Given the description of an element on the screen output the (x, y) to click on. 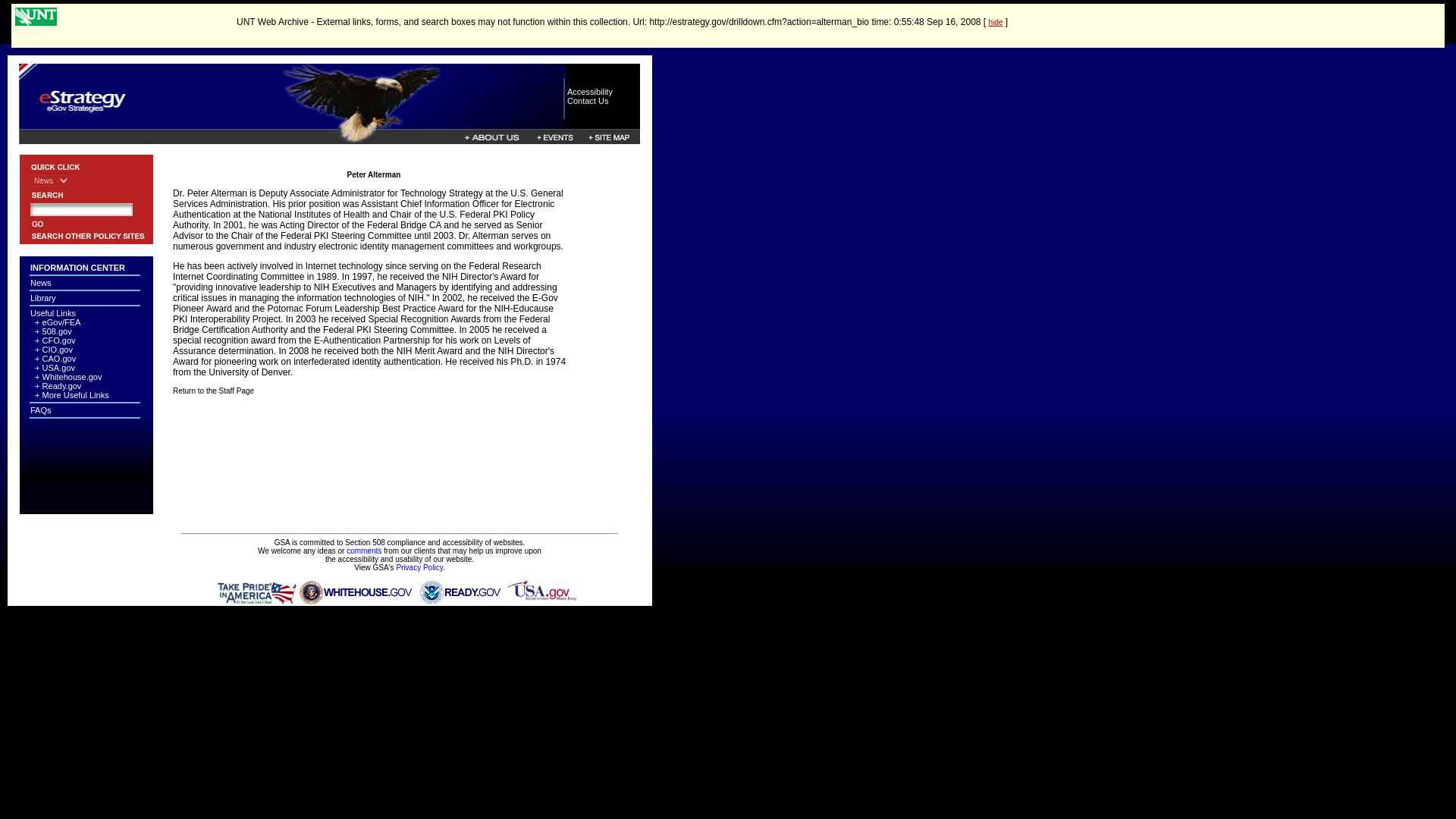
Questions and Comments (363, 551)
link to USA.gov (542, 583)
hide (995, 22)
CFO.gov (58, 339)
508.gov (56, 330)
CIO.gov (57, 348)
Accessibility statement (589, 91)
Visit USA.Gov (542, 589)
FAQs (40, 409)
Contact Us (587, 100)
link to ready.gov (459, 583)
Home Button (292, 124)
CAO.gov (59, 358)
USA.gov (58, 367)
News (40, 282)
